Given the description of an element on the screen output the (x, y) to click on. 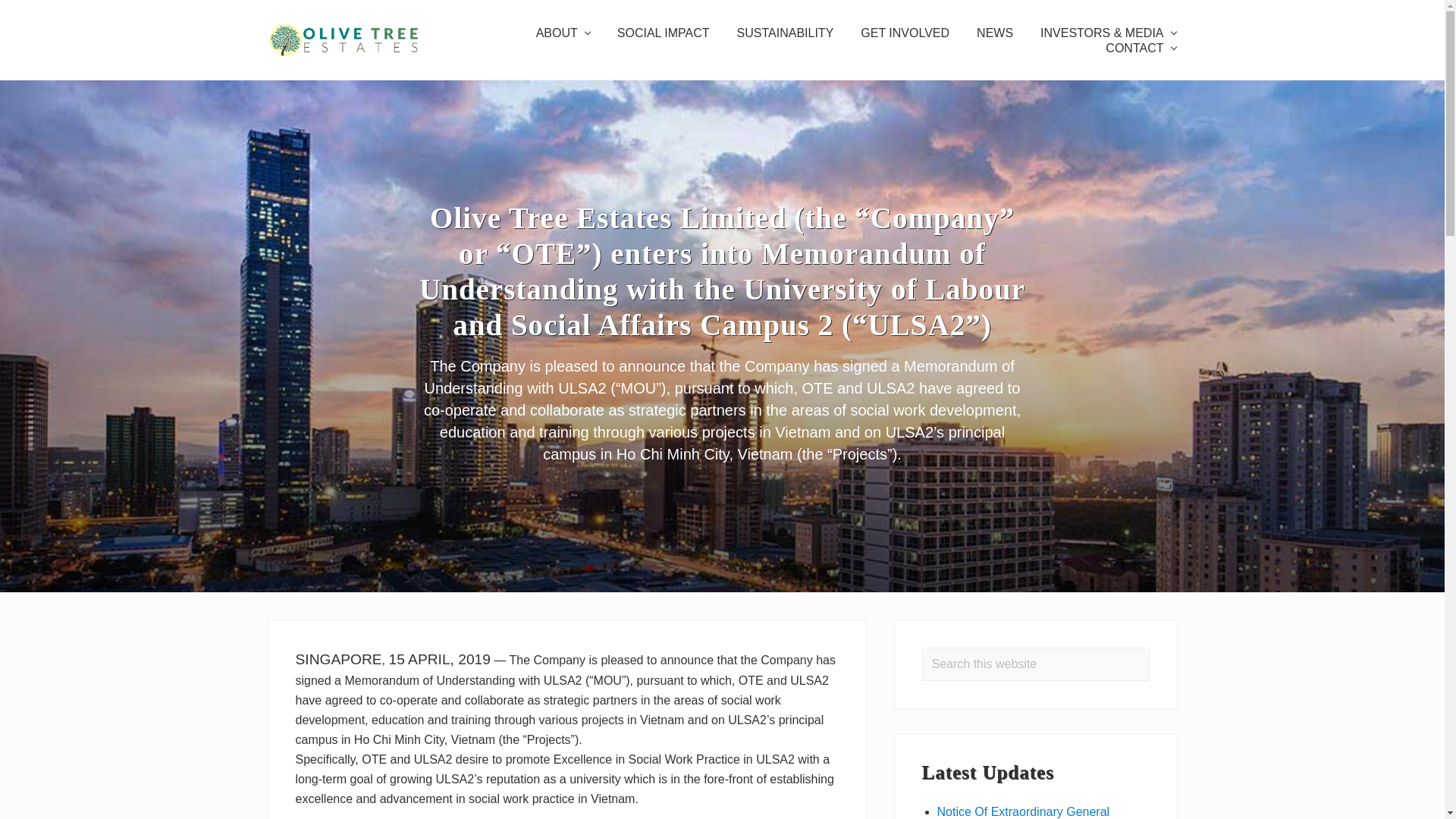
ABOUT (563, 32)
NEWS (994, 32)
CONTACT (1140, 48)
SUSTAINABILITY (785, 32)
SOCIAL IMPACT (663, 32)
GET INVOLVED (904, 32)
